Given the description of an element on the screen output the (x, y) to click on. 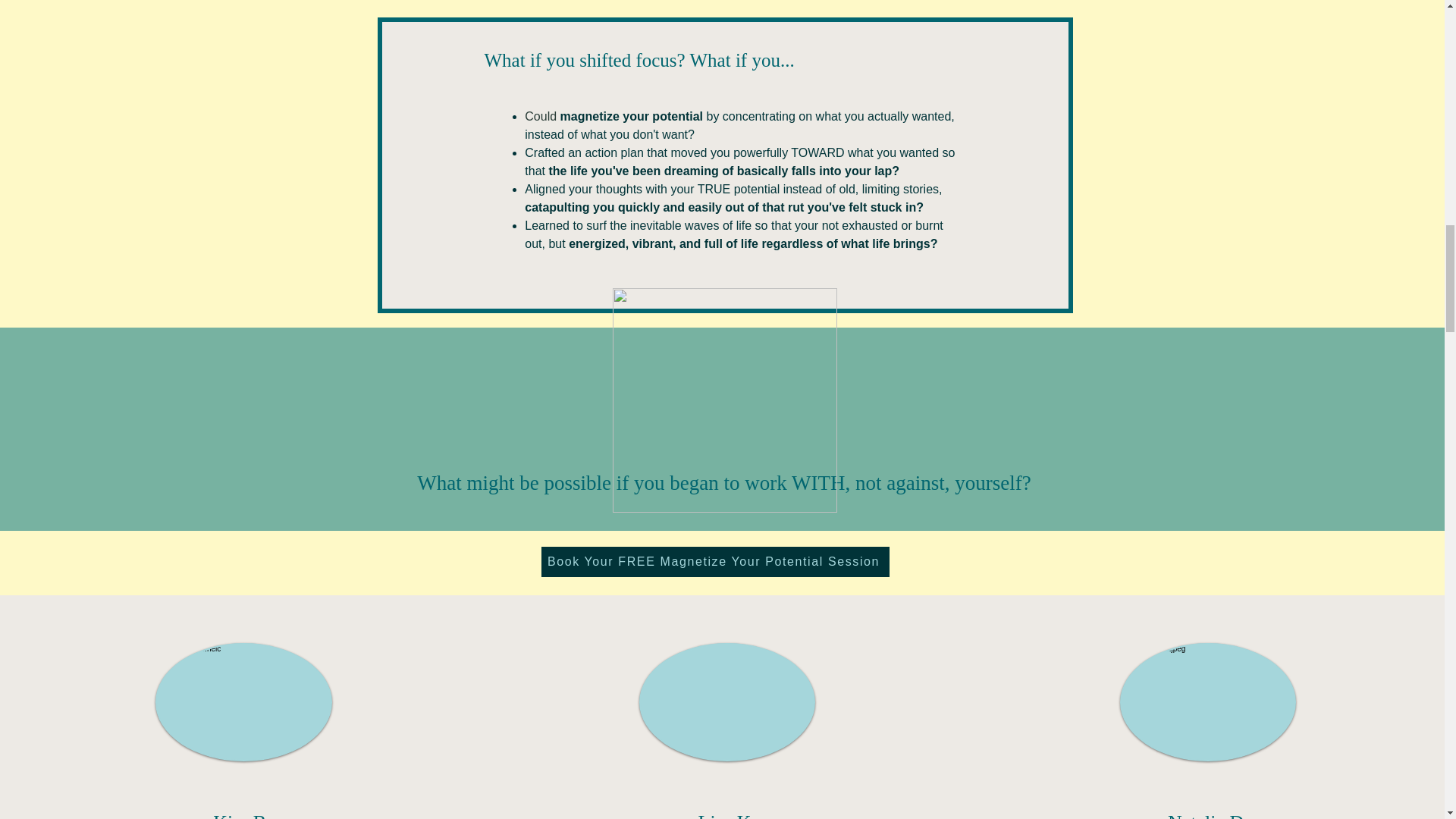
Book Your FREE Magnetize Your Potential Session (715, 562)
